Given the description of an element on the screen output the (x, y) to click on. 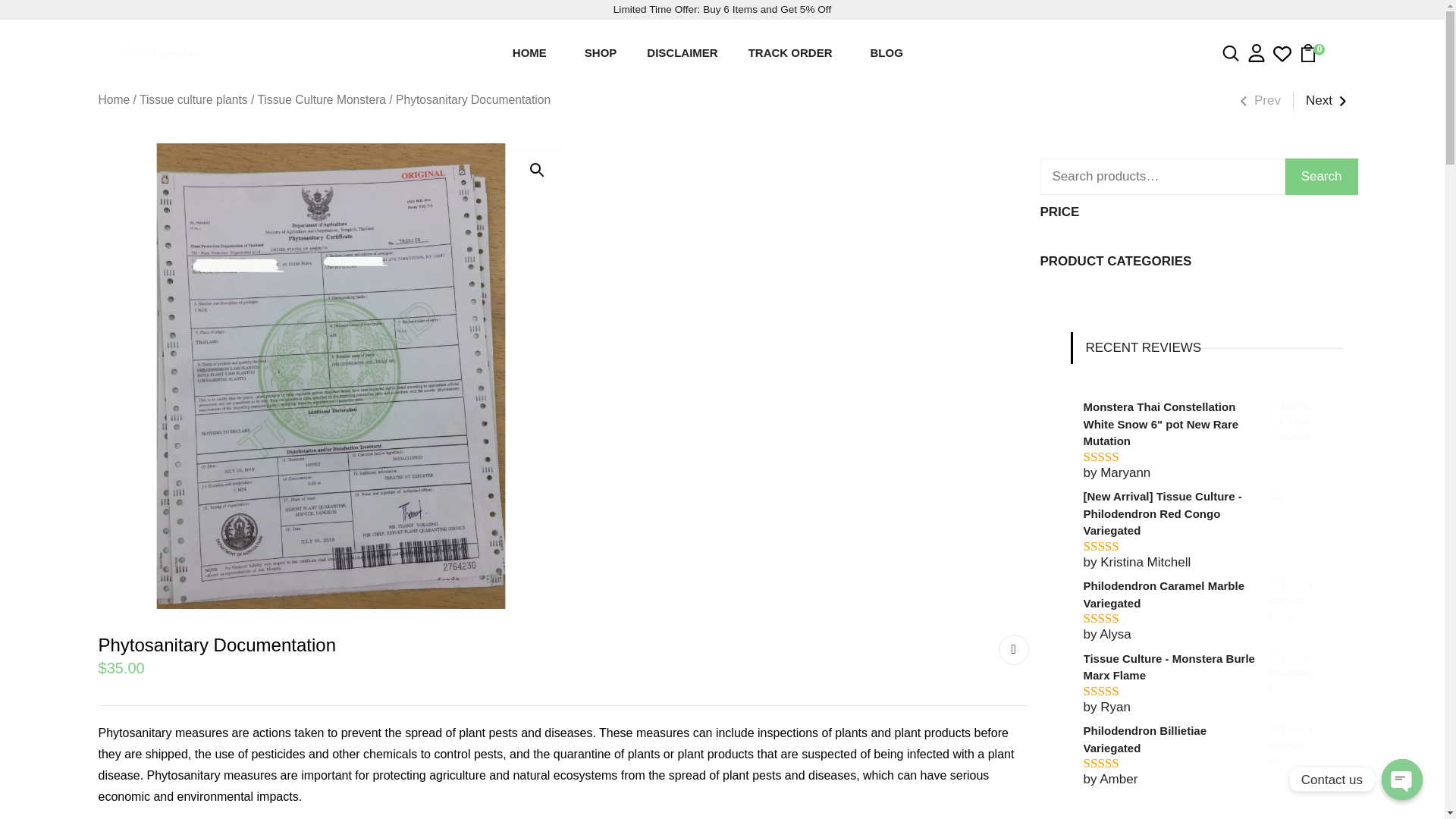
Search (721, 151)
Rated 5 out of 5 (1118, 617)
Rated 5 out of 5 (1118, 545)
HOME (533, 53)
Rated 5 out of 5 (1118, 456)
